Given the description of an element on the screen output the (x, y) to click on. 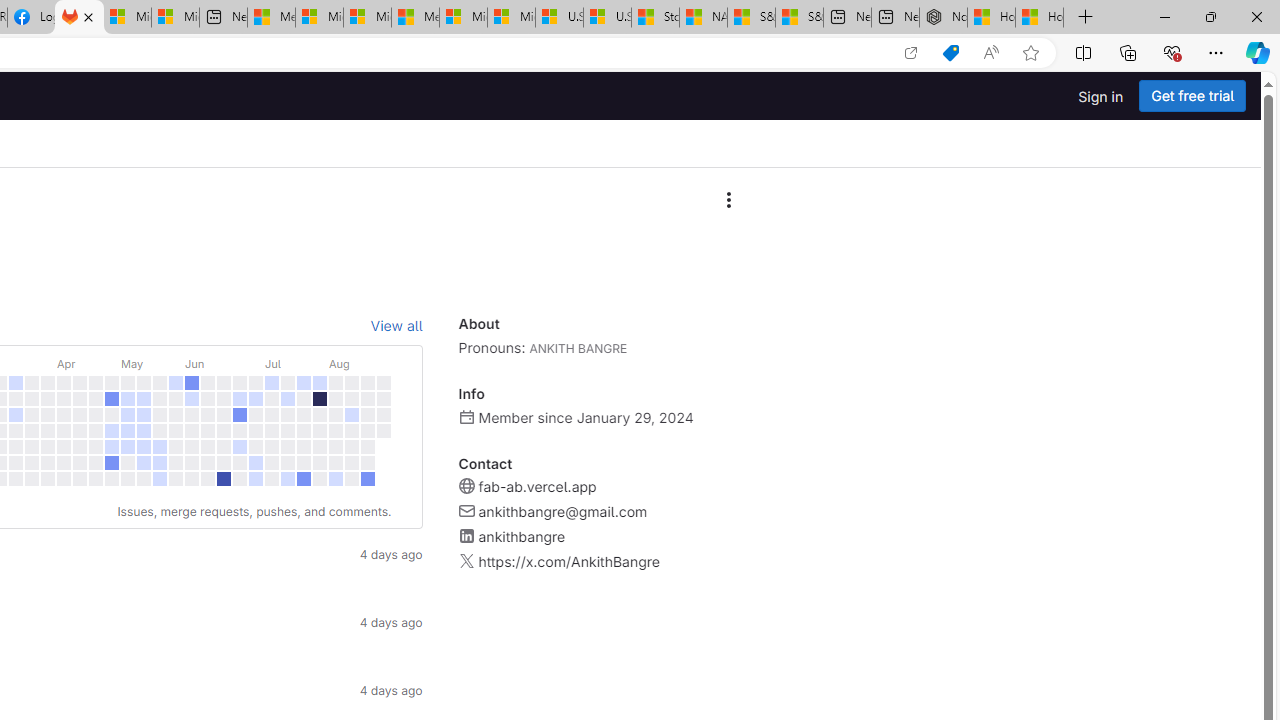
Microsoft account | Home (367, 17)
AutomationID: dropdown-toggle-btn-16 (727, 200)
View all (395, 325)
